Given the description of an element on the screen output the (x, y) to click on. 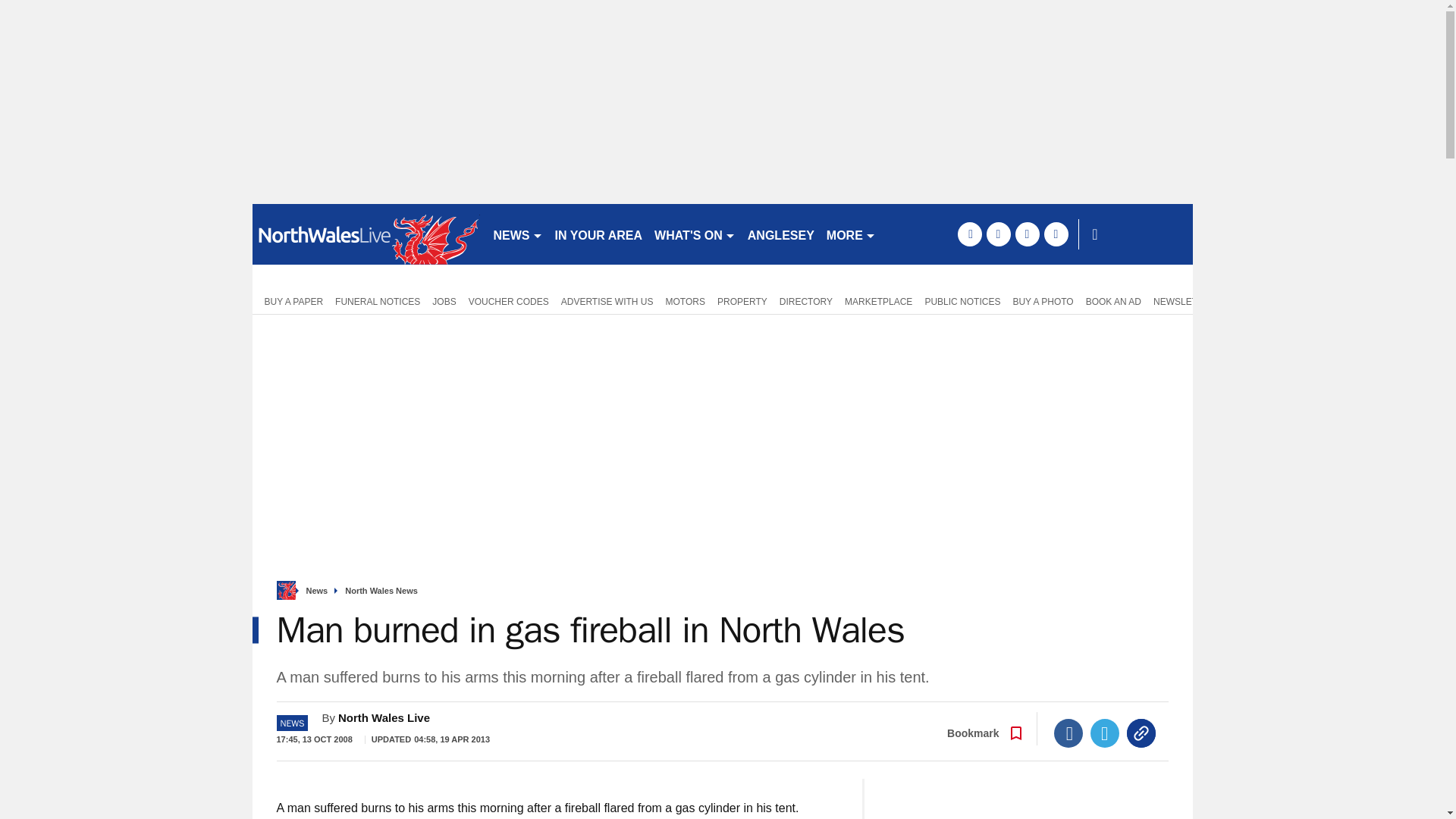
JOBS (443, 300)
instagram (1055, 233)
NEWS (517, 233)
twitter (997, 233)
WHAT'S ON (694, 233)
northwales (365, 233)
BUY A PAPER (290, 300)
FUNERAL NOTICES (377, 300)
MOTORS (685, 300)
Twitter (1104, 733)
